Given the description of an element on the screen output the (x, y) to click on. 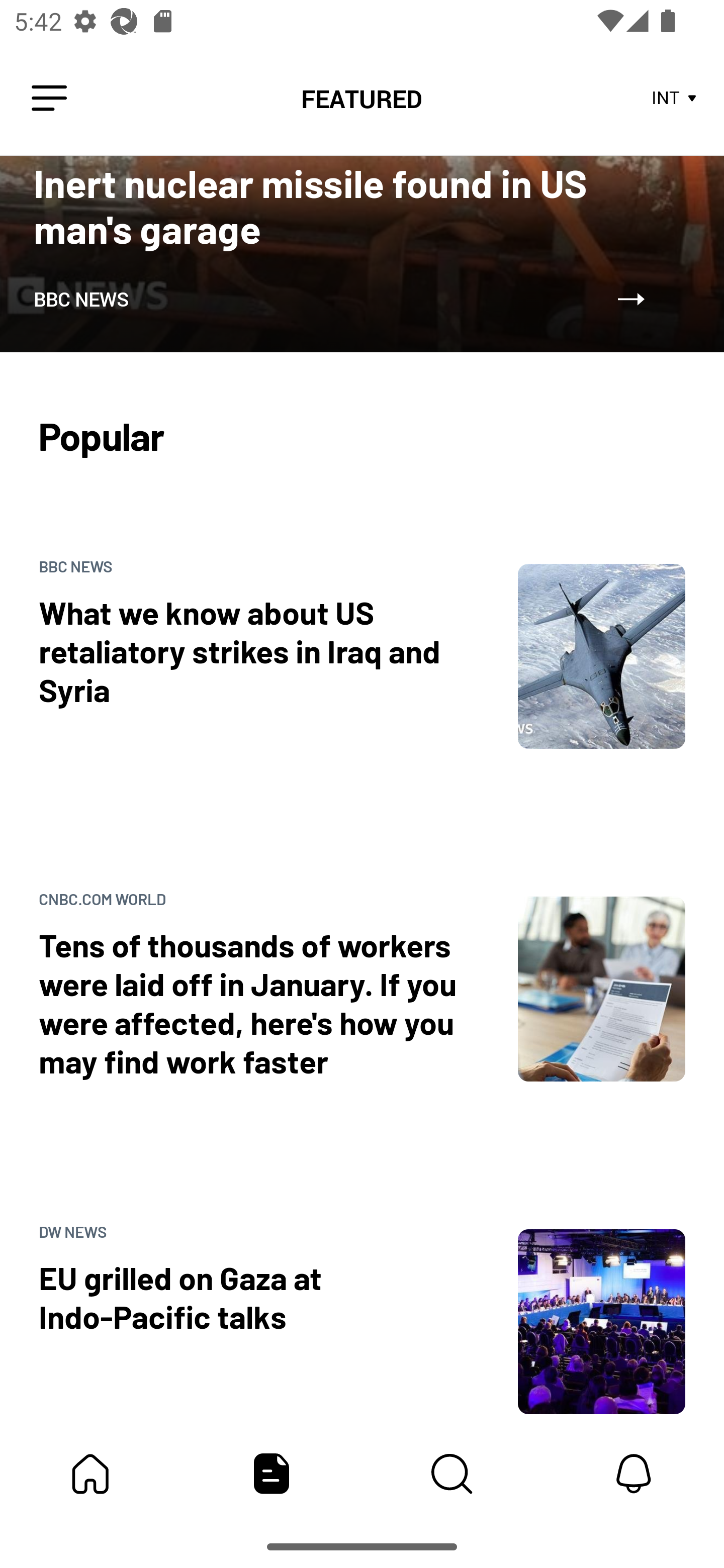
INT Store Area (674, 98)
Leading Icon (49, 98)
My Bundle (90, 1473)
Content Store (452, 1473)
Notifications (633, 1473)
